Given the description of an element on the screen output the (x, y) to click on. 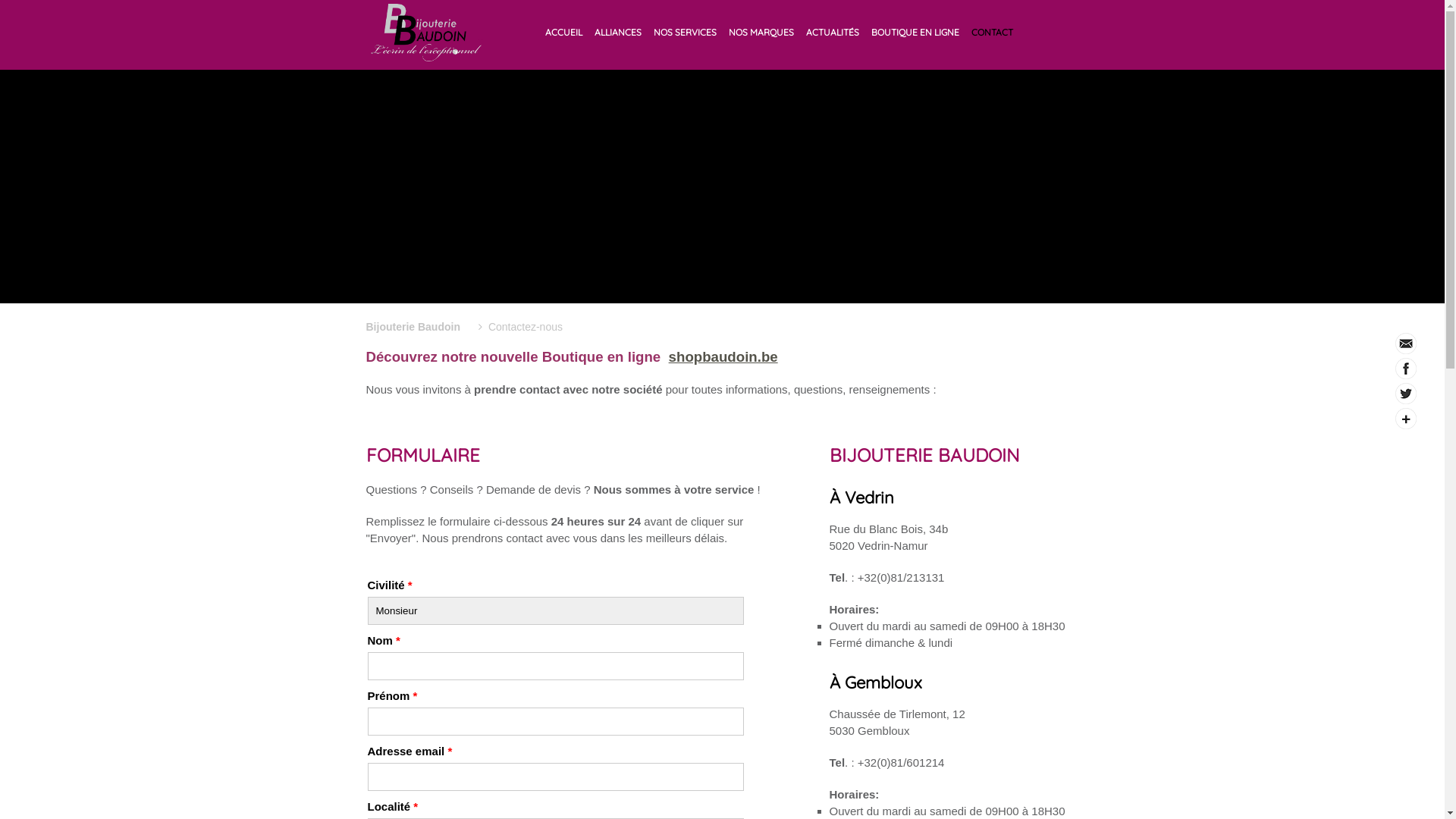
Bijouterie Baudoin Element type: hover (426, 32)
CONTACT Element type: text (992, 31)
Partager ce contenu Element type: text (1405, 418)
ALLIANCES Element type: text (617, 31)
shopbaudoin.be Element type: text (723, 356)
NOS MARQUES Element type: text (761, 31)
NOS SERVICES Element type: text (684, 31)
BOUTIQUE EN LIGNE Element type: text (915, 31)
Bijouterie Baudoin Element type: text (412, 326)
ACCUEIL Element type: text (563, 31)
